Given the description of an element on the screen output the (x, y) to click on. 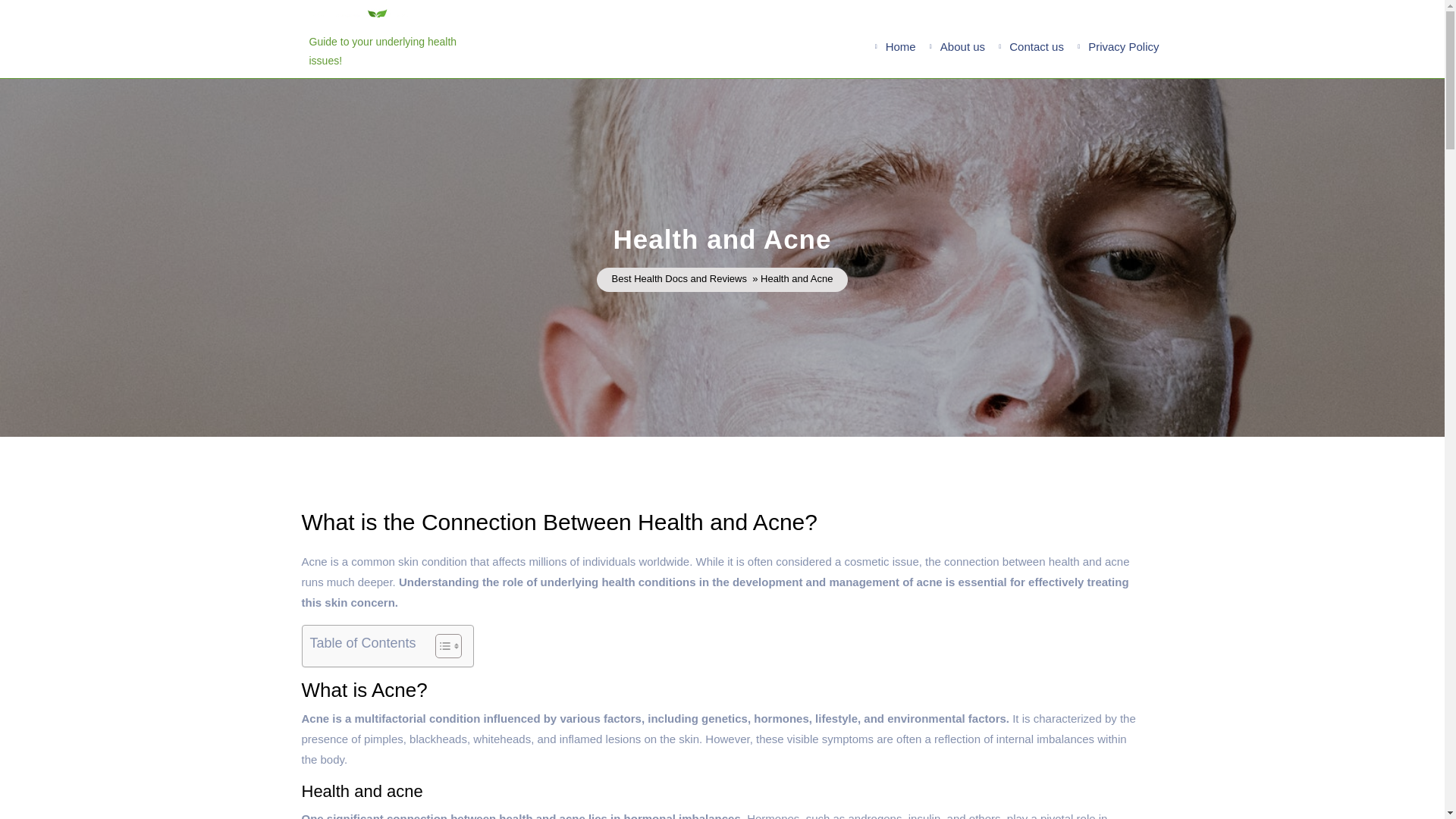
Best Health Docs and Reviews (678, 278)
About us (962, 46)
Privacy Policy (1123, 46)
Home (900, 46)
Contact us (1036, 46)
